Given the description of an element on the screen output the (x, y) to click on. 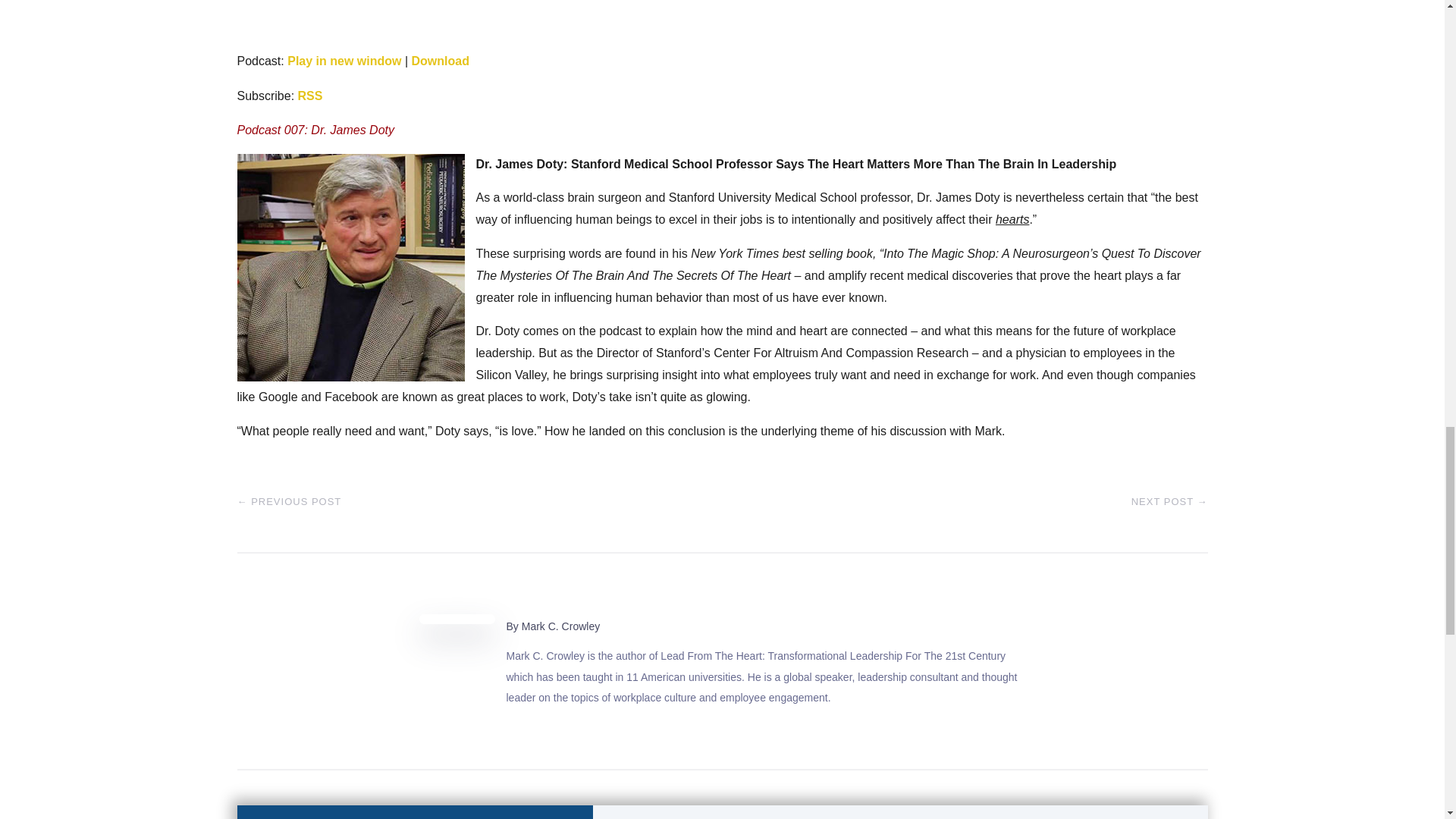
Subscribe via RSS (310, 95)
Play in new window (343, 60)
Play in new window (343, 60)
Download (439, 60)
Download (439, 60)
RSS (310, 95)
Blubrry Podcast Player (721, 21)
Daniel Coyle (349, 267)
Mark C. Crowley (560, 625)
